Given the description of an element on the screen output the (x, y) to click on. 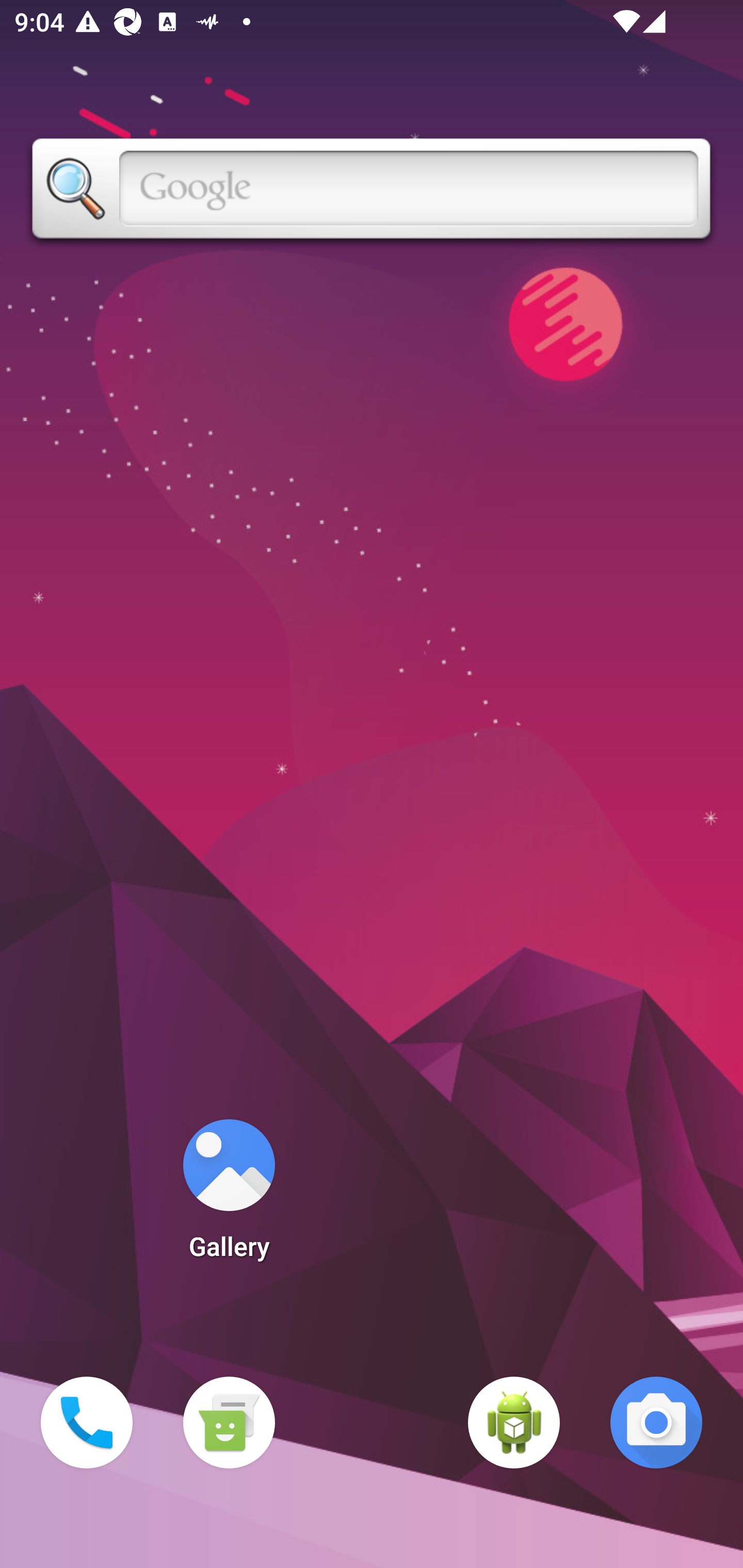
Gallery (228, 1195)
Phone (86, 1422)
Messaging (228, 1422)
WebView Browser Tester (513, 1422)
Camera (656, 1422)
